Given the description of an element on the screen output the (x, y) to click on. 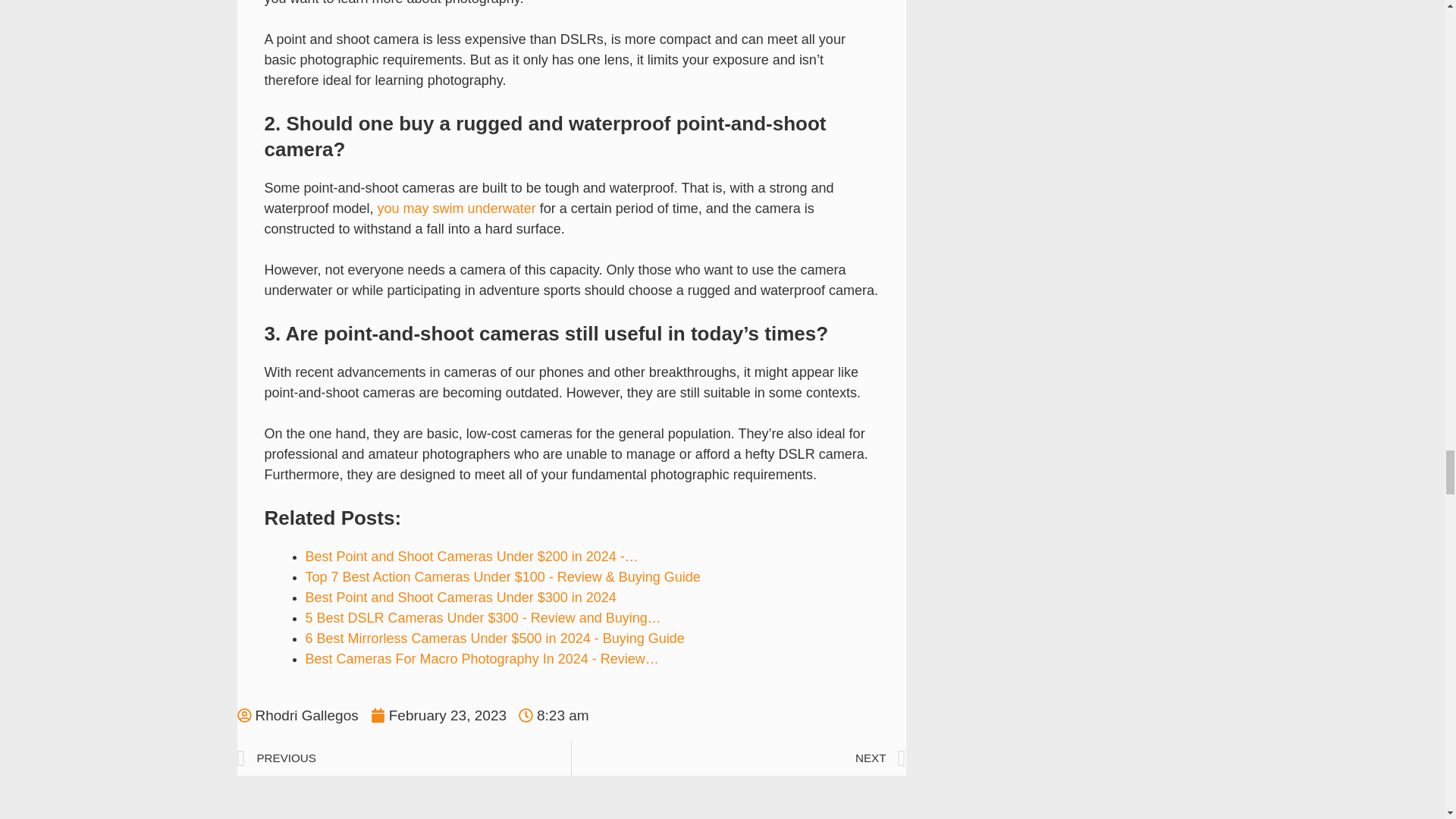
Rhodri Gallegos (296, 716)
February 23, 2023 (438, 716)
you may swim underwater (456, 208)
